Given the description of an element on the screen output the (x, y) to click on. 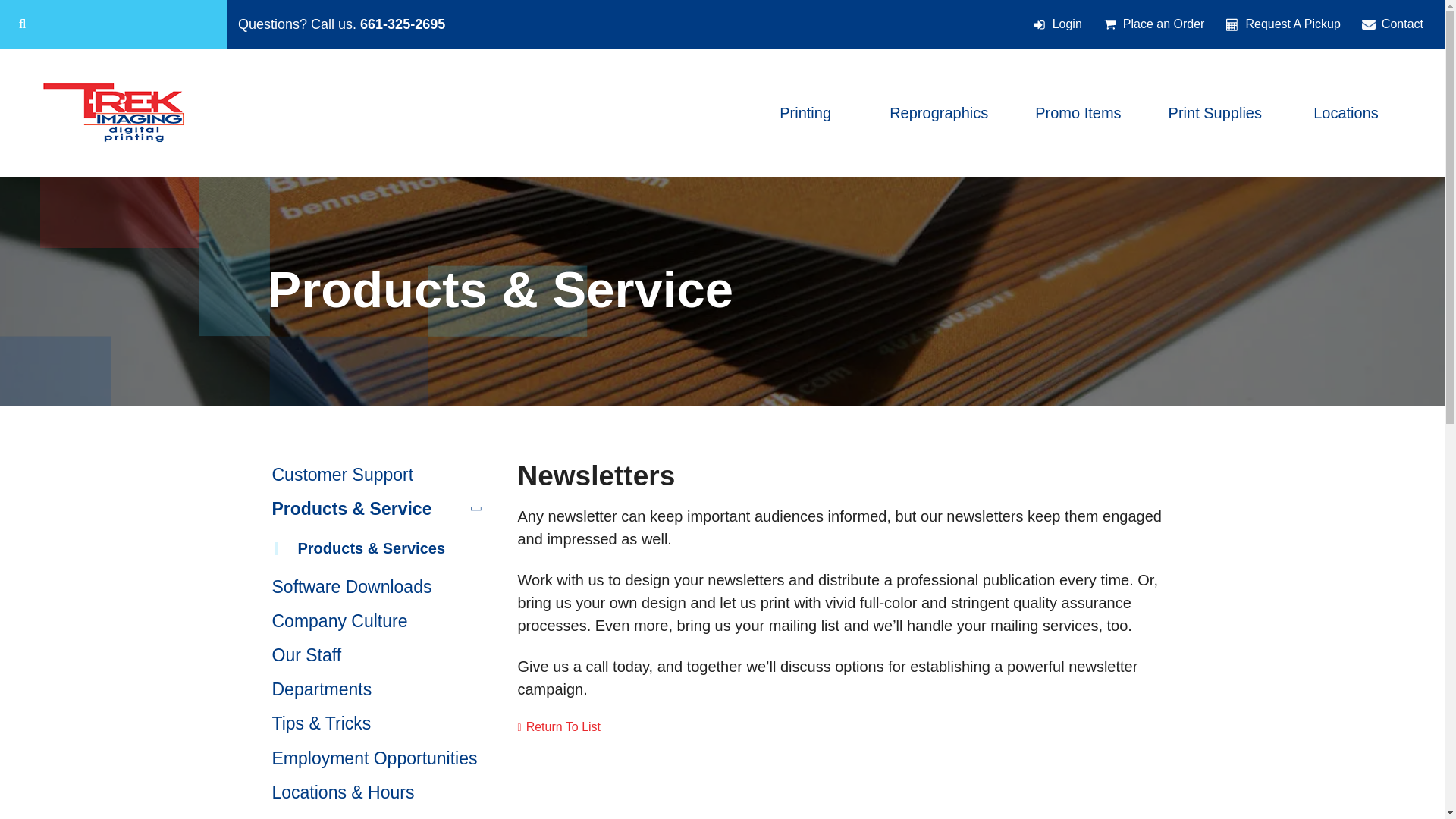
logo (113, 112)
